Given the description of an element on the screen output the (x, y) to click on. 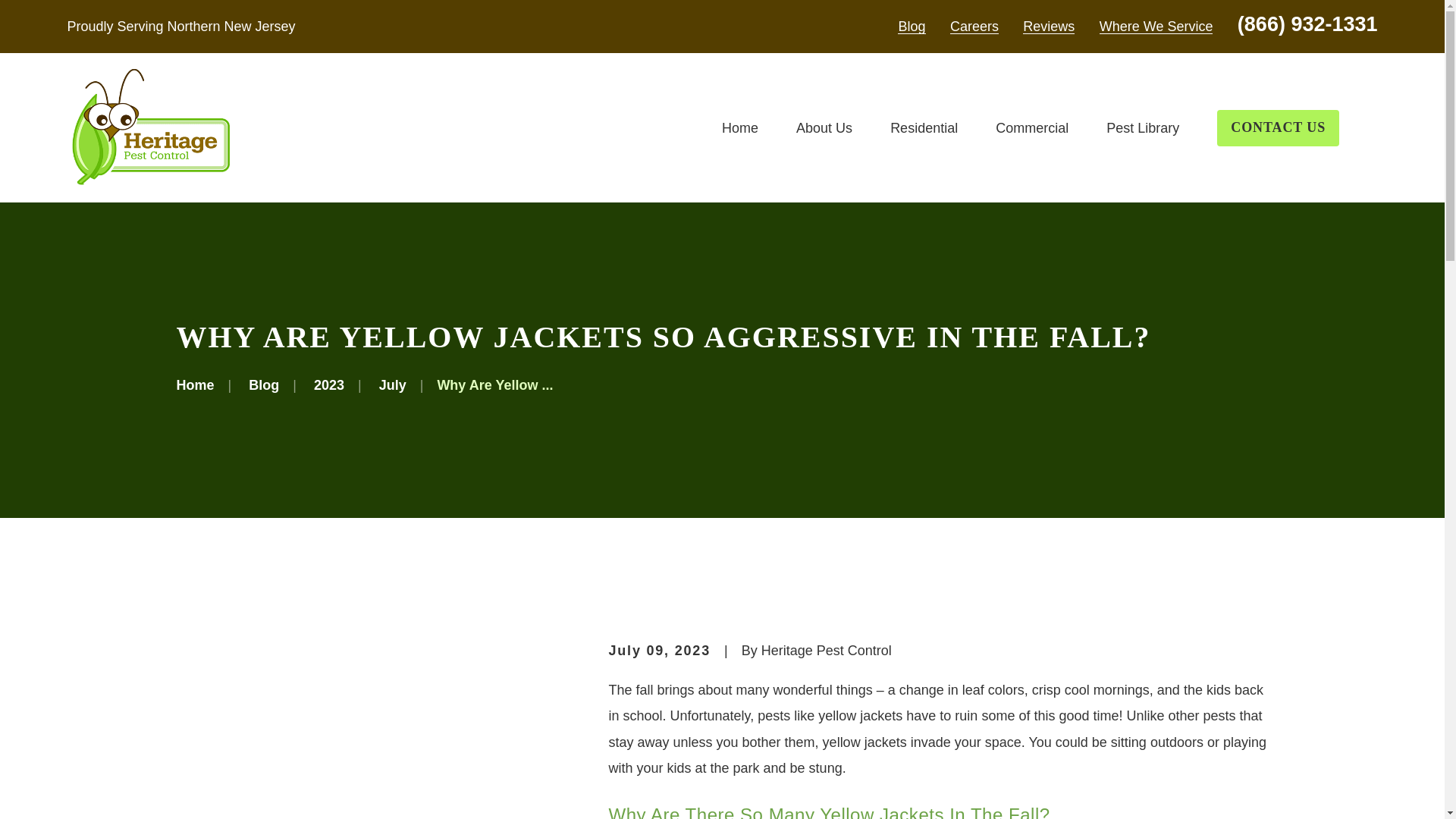
About Us (823, 127)
Where We Service (1155, 26)
Home (149, 127)
Reviews (1048, 26)
Blog (911, 26)
Careers (974, 26)
Residential (923, 127)
Go Home (195, 385)
Pest Library (1142, 127)
Commercial (1031, 127)
